Given the description of an element on the screen output the (x, y) to click on. 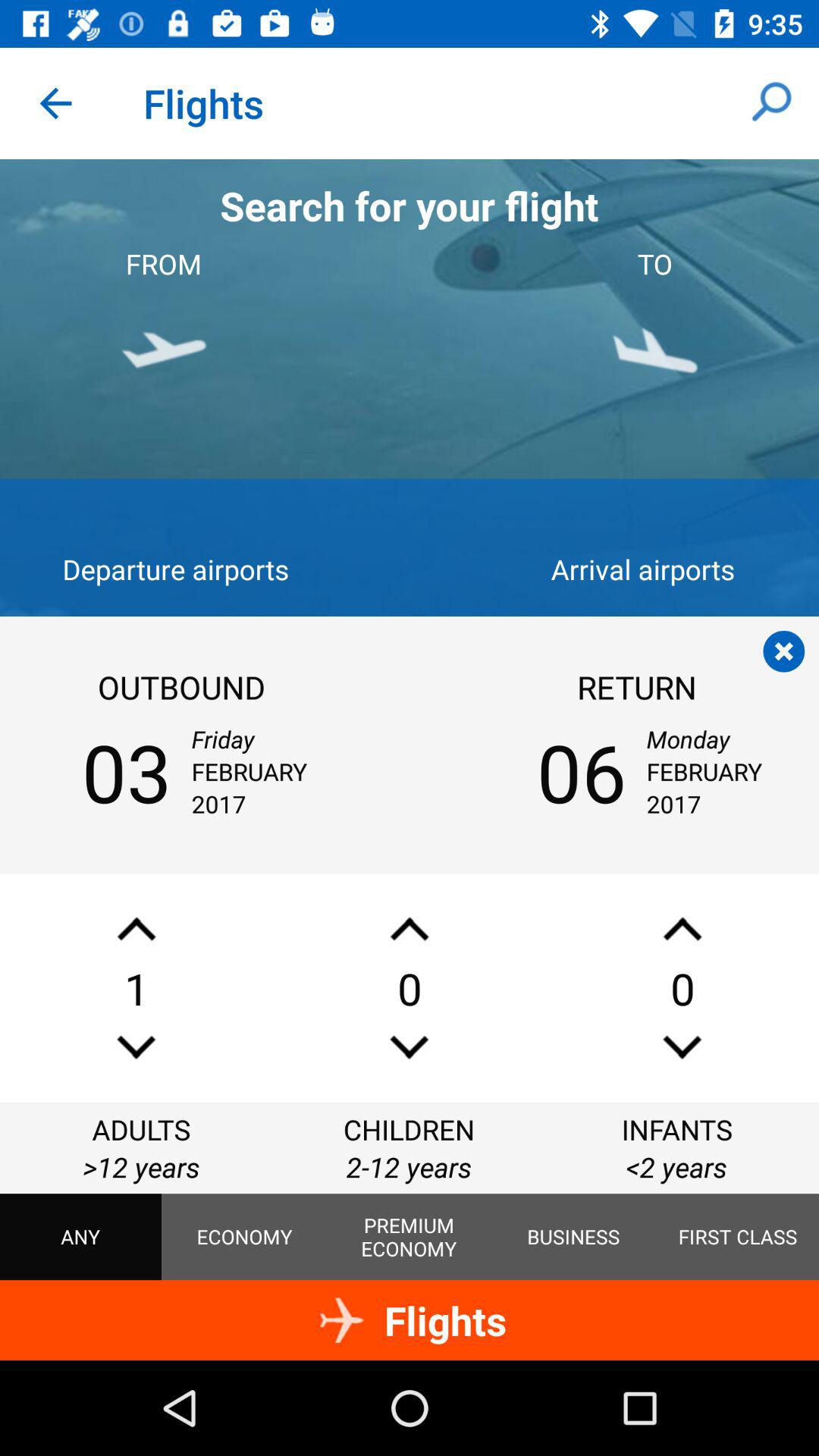
close (784, 651)
